Given the description of an element on the screen output the (x, y) to click on. 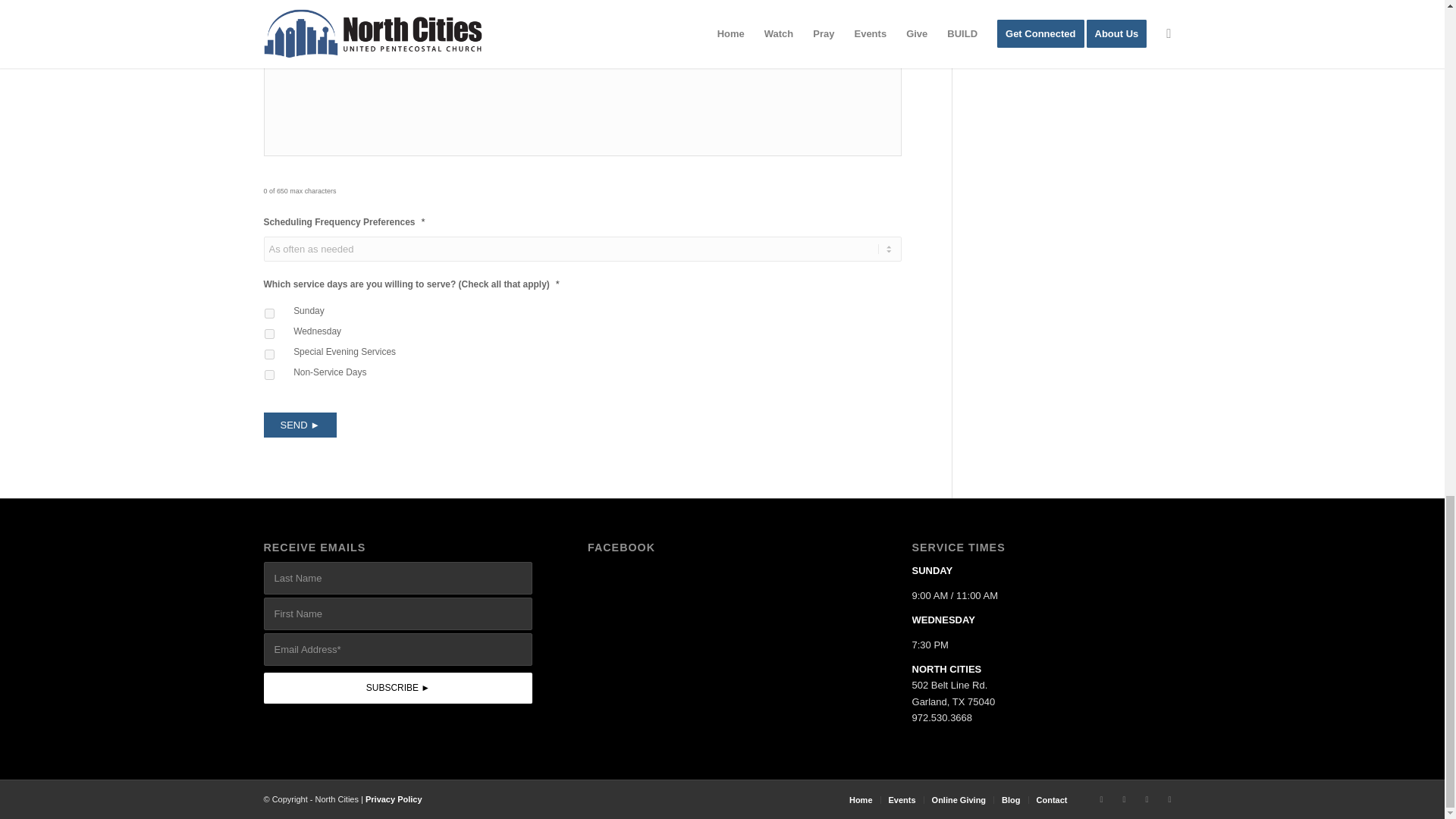
Events (901, 799)
Facebook (1101, 798)
Wednesday (268, 334)
Privacy Policy (393, 798)
Home (860, 799)
Non-Service Days (268, 375)
Rss (1169, 798)
Blog (1010, 799)
Sunday (268, 313)
Special Evening Services (268, 354)
Contact (1051, 799)
Online Giving (959, 799)
Twitter (1124, 798)
Instagram (1146, 798)
